Given the description of an element on the screen output the (x, y) to click on. 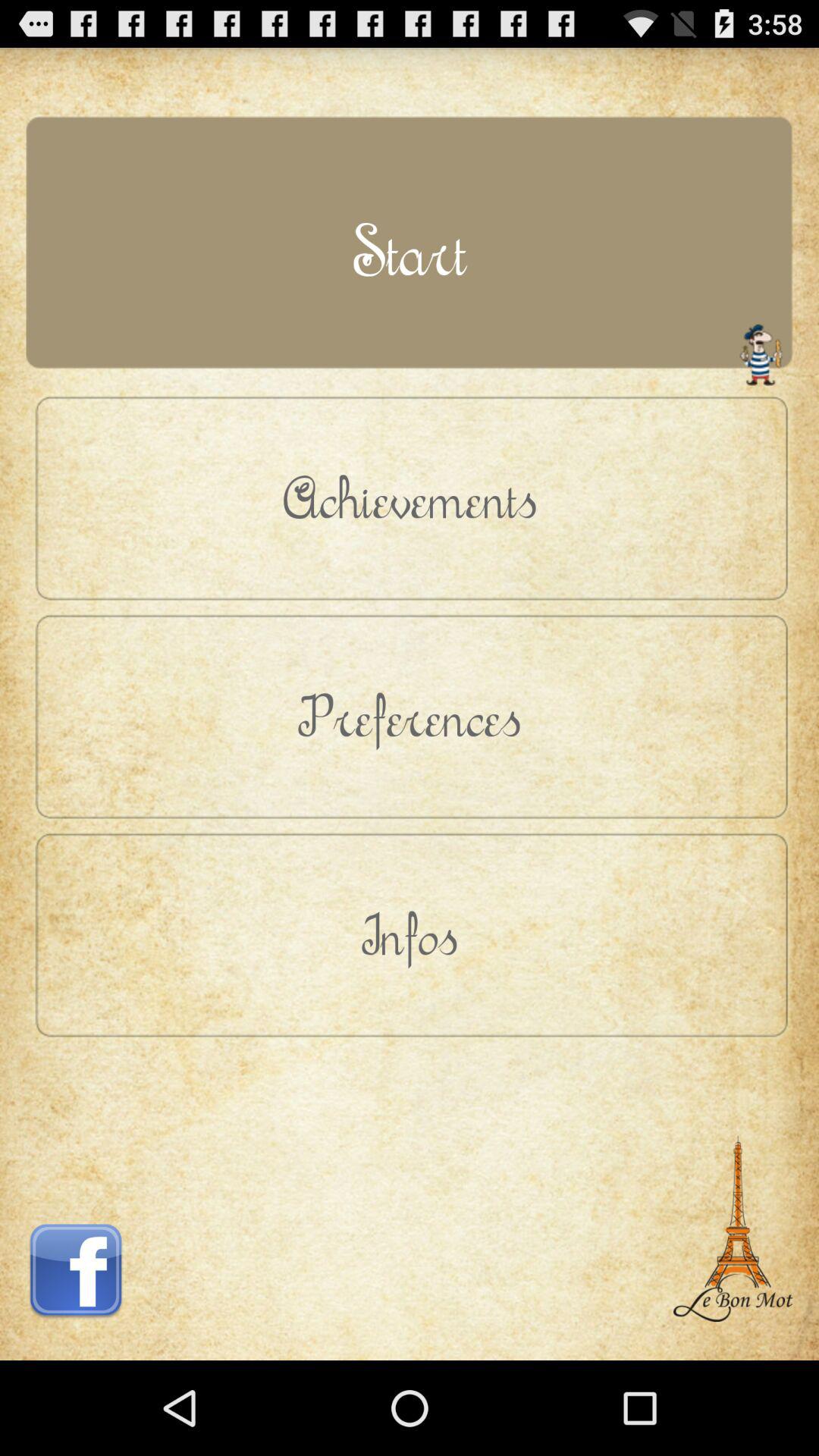
select infos (409, 934)
